Given the description of an element on the screen output the (x, y) to click on. 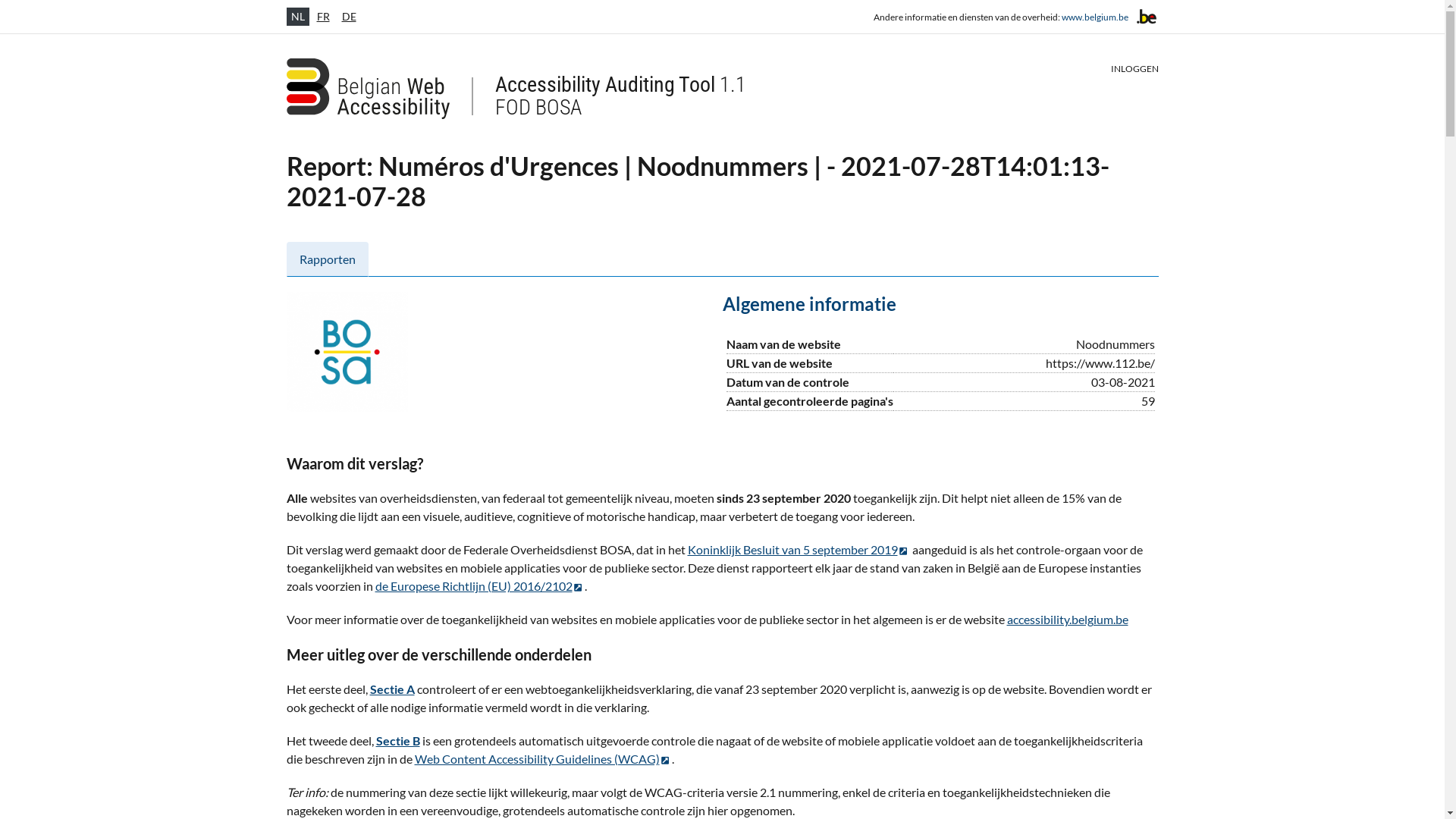
NL Element type: text (297, 16)
de Europese Richtlijn (EU) 2016/2102 Element type: text (478, 585)
DE Element type: text (348, 16)
Accessibility Auditing Tool
home page
1.1
FOD BOSA Element type: text (516, 88)
Sectie B Element type: text (398, 740)
Web Content Accessibility Guidelines (WCAG) Element type: text (542, 758)
www.belgium.be Element type: text (1094, 16)
INLOGGEN Element type: text (1133, 68)
Sectie A Element type: text (392, 688)
Rapporten Element type: text (327, 258)
Koninklijk Besluit van 5 september 2019 Element type: text (798, 549)
accessibility.belgium.be Element type: text (1067, 618)
FR Element type: text (323, 16)
Overslaan en naar de inhoud gaan Element type: text (7, 4)
